Given the description of an element on the screen output the (x, y) to click on. 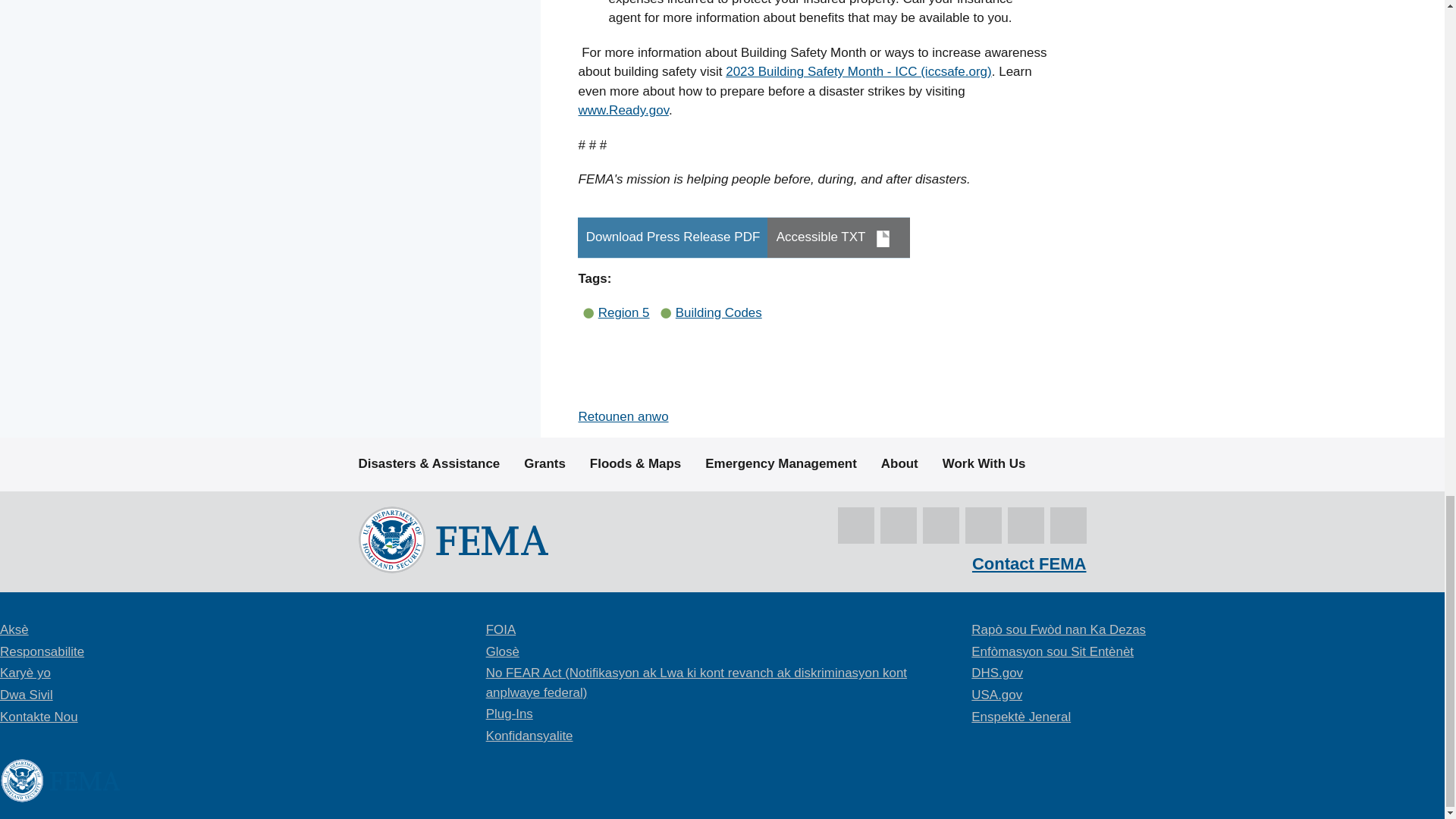
FEMA logo (452, 539)
Accessible TXT (837, 237)
Download Press Release PDF (673, 237)
www.Ready.gov (623, 110)
Region 5 (623, 312)
Building Codes (718, 312)
